Given the description of an element on the screen output the (x, y) to click on. 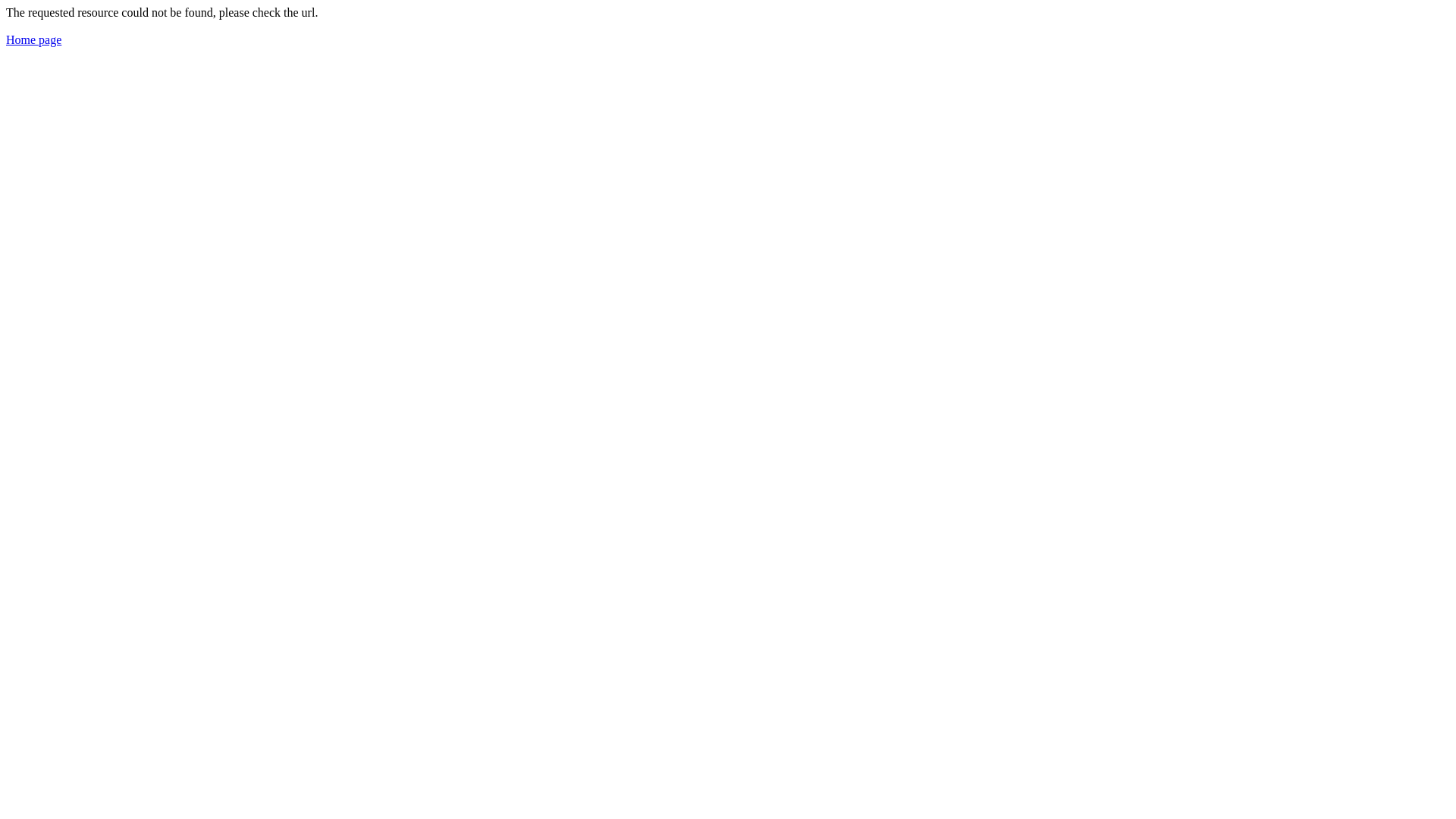
Home page Element type: text (33, 39)
